Given the description of an element on the screen output the (x, y) to click on. 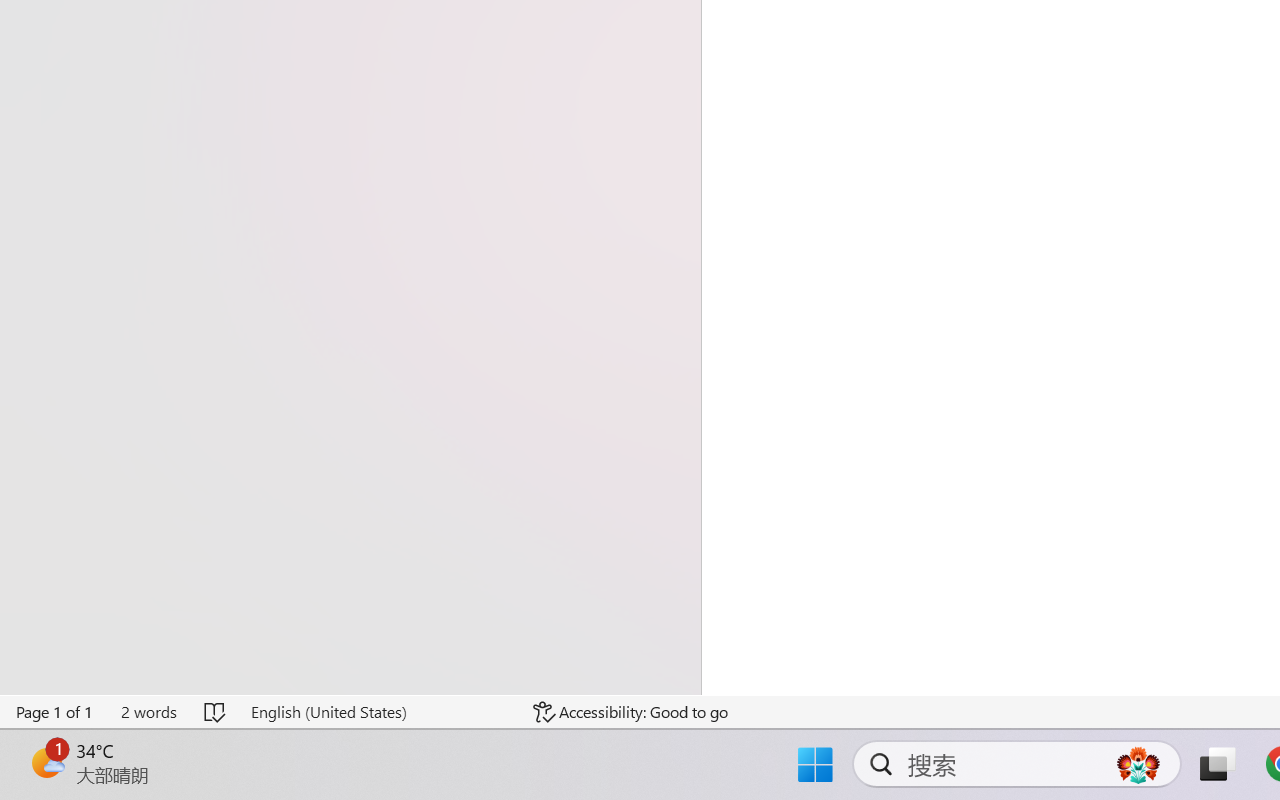
Page Number Page 1 of 1 (55, 712)
